Given the description of an element on the screen output the (x, y) to click on. 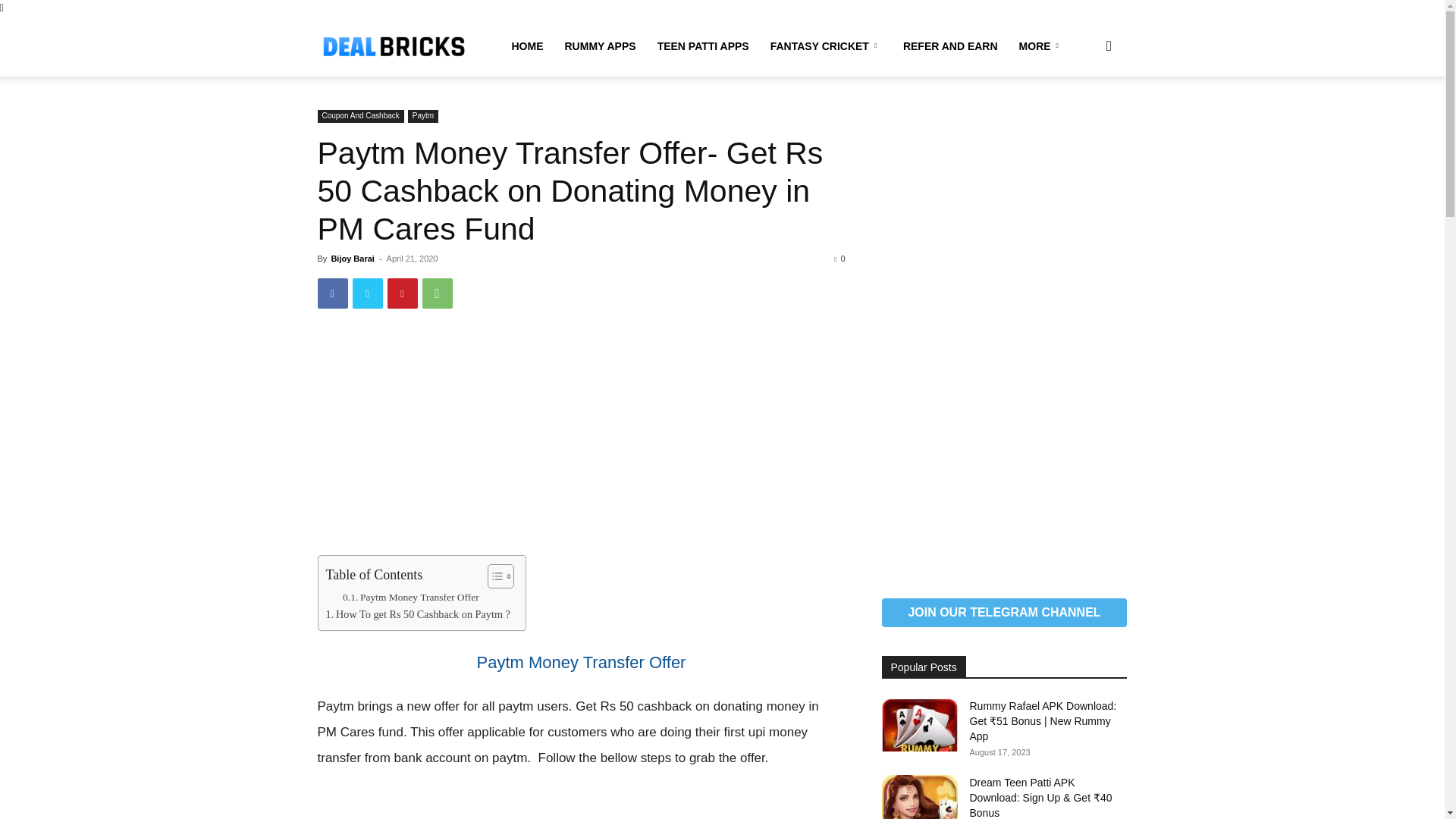
0 (839, 257)
TEEN PATTI APPS (703, 45)
Dealbricks (392, 45)
Paytm (422, 115)
WhatsApp (436, 293)
Coupon And Cashback (360, 115)
Twitter (366, 293)
MORE (1041, 45)
Facebook (332, 293)
RUMMY APPS (599, 45)
Advertisement (580, 442)
Pinterest (401, 293)
Search (1085, 119)
Bijoy Barai (352, 257)
REFER AND EARN (950, 45)
